Given the description of an element on the screen output the (x, y) to click on. 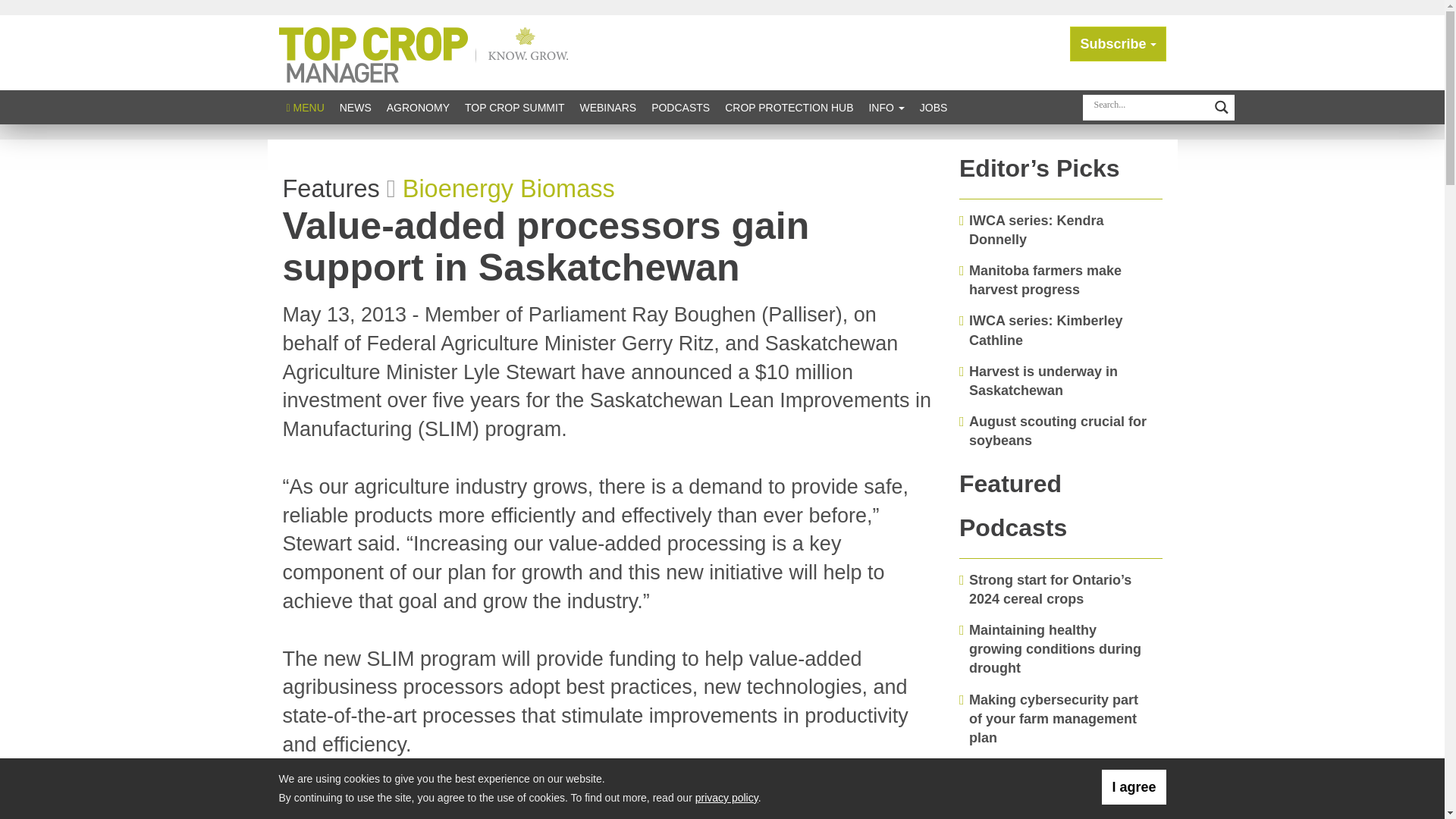
PODCASTS (680, 107)
Subscribe (1118, 43)
WEBINARS (607, 107)
JOBS (933, 107)
Click to show site navigation (305, 107)
AGRONOMY (417, 107)
Top Crop Manager (427, 51)
INFO (885, 107)
NEWS (354, 107)
CROP PROTECTION HUB (788, 107)
